Given the description of an element on the screen output the (x, y) to click on. 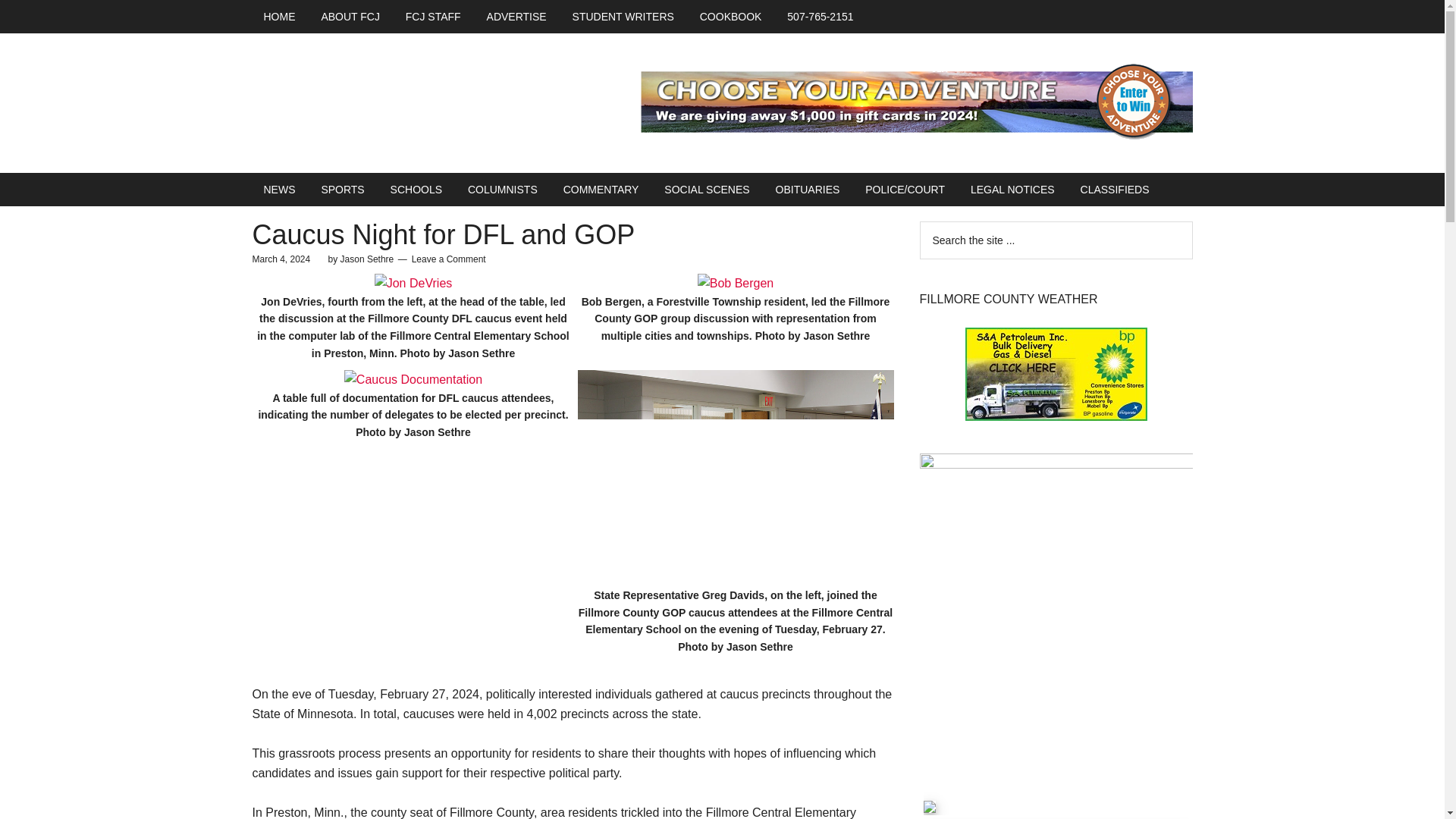
NEWS (278, 189)
Fillmore County Journal (395, 106)
SOCIAL SCENES (706, 189)
ABOUT FCJ (349, 16)
OBITUARIES (807, 189)
SPORTS (341, 189)
507-765-2151 (820, 16)
SCHOOLS (415, 189)
CLASSIFIEDS (1114, 189)
